Given the description of an element on the screen output the (x, y) to click on. 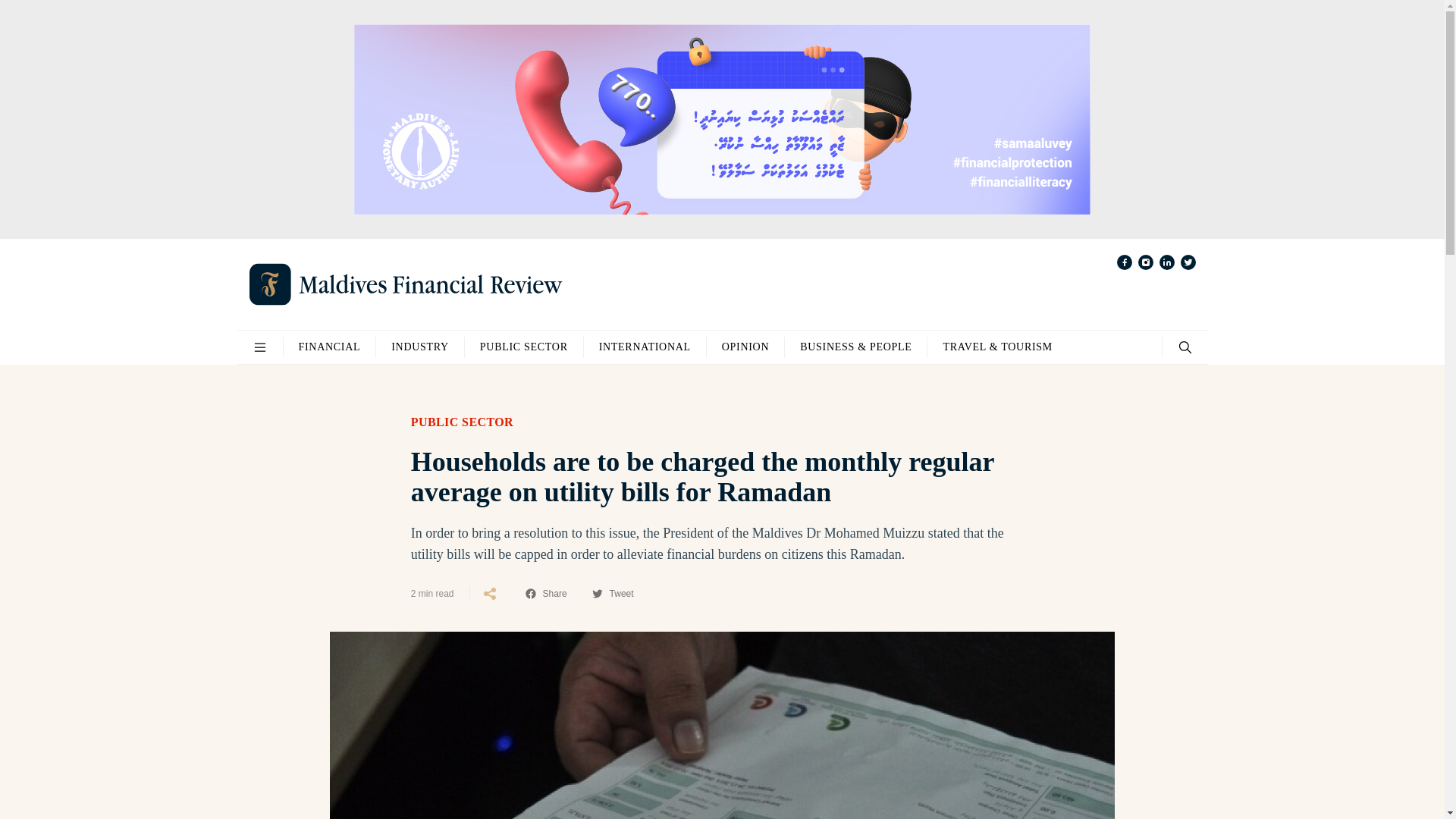
INDUSTRY (419, 346)
PUBLIC SECTOR (461, 422)
Share (545, 593)
INTERNATIONAL (644, 346)
FINANCIAL (328, 346)
Tweet (612, 593)
OPINION (745, 346)
PUBLIC SECTOR (523, 346)
